Given the description of an element on the screen output the (x, y) to click on. 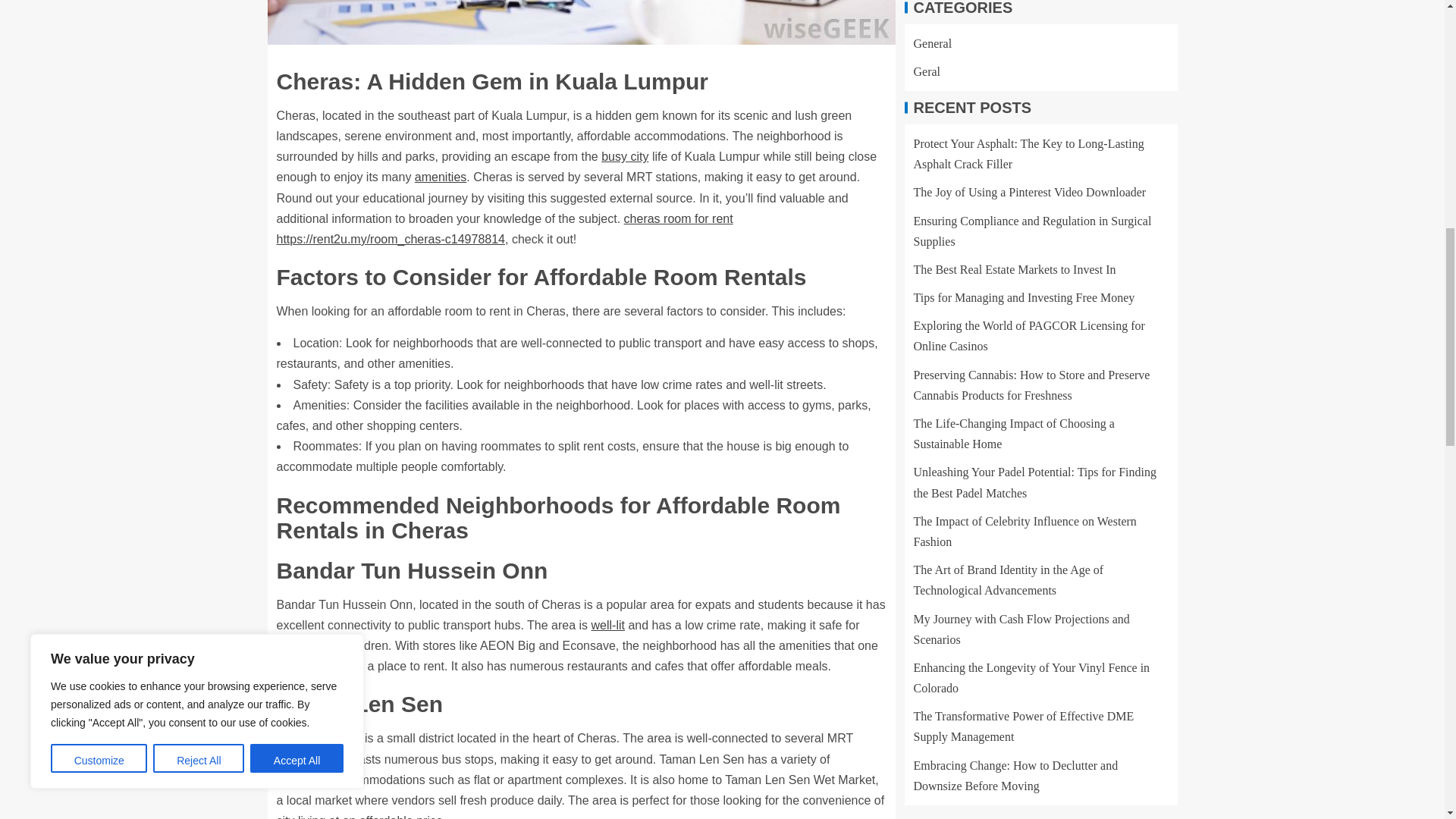
busy city (624, 155)
amenities (439, 176)
well-lit (607, 625)
